Given the description of an element on the screen output the (x, y) to click on. 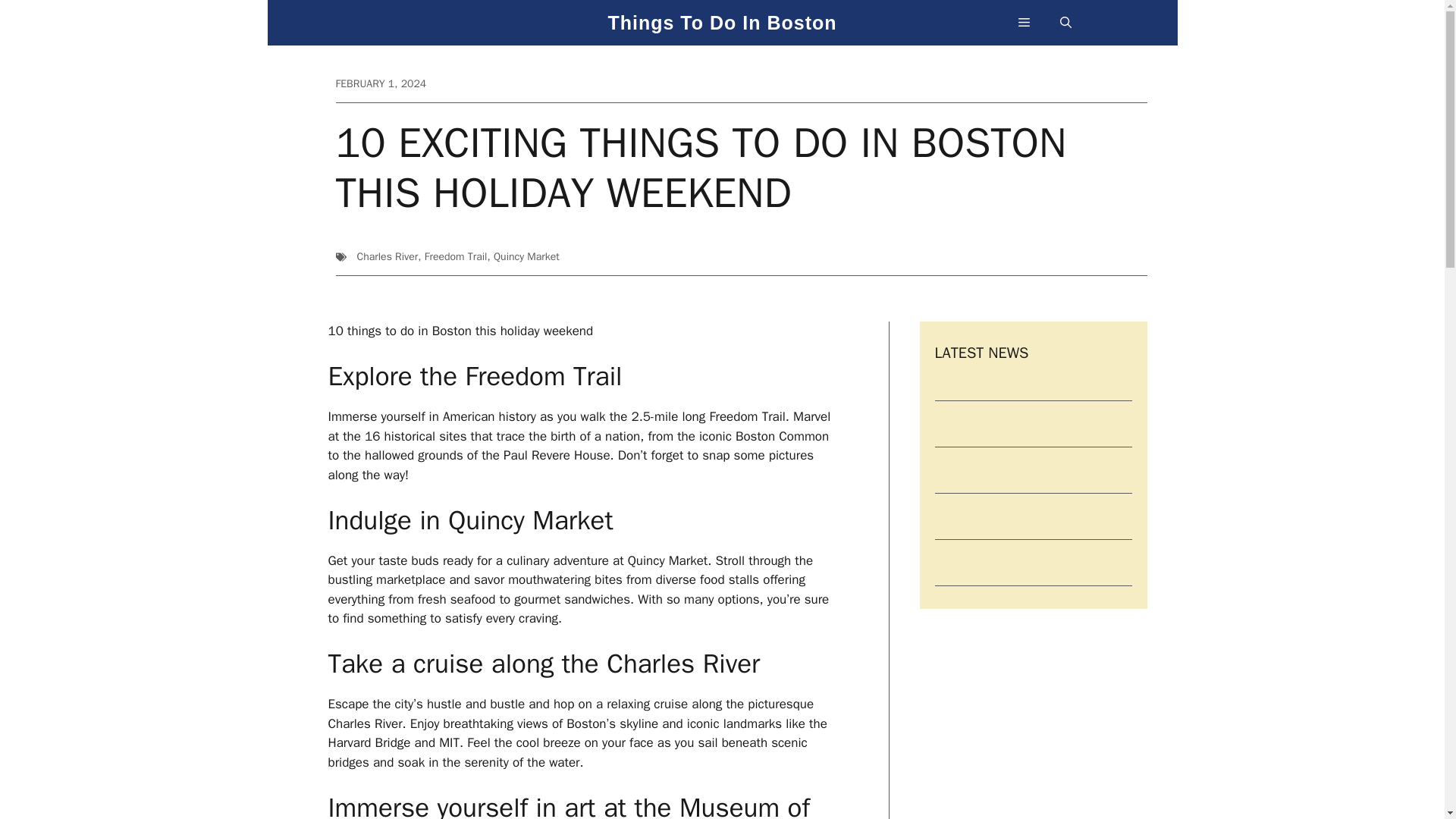
Freedom Trail (456, 256)
Charles River (386, 256)
Quincy Market (526, 256)
Things To Do In Boston (721, 33)
